Given the description of an element on the screen output the (x, y) to click on. 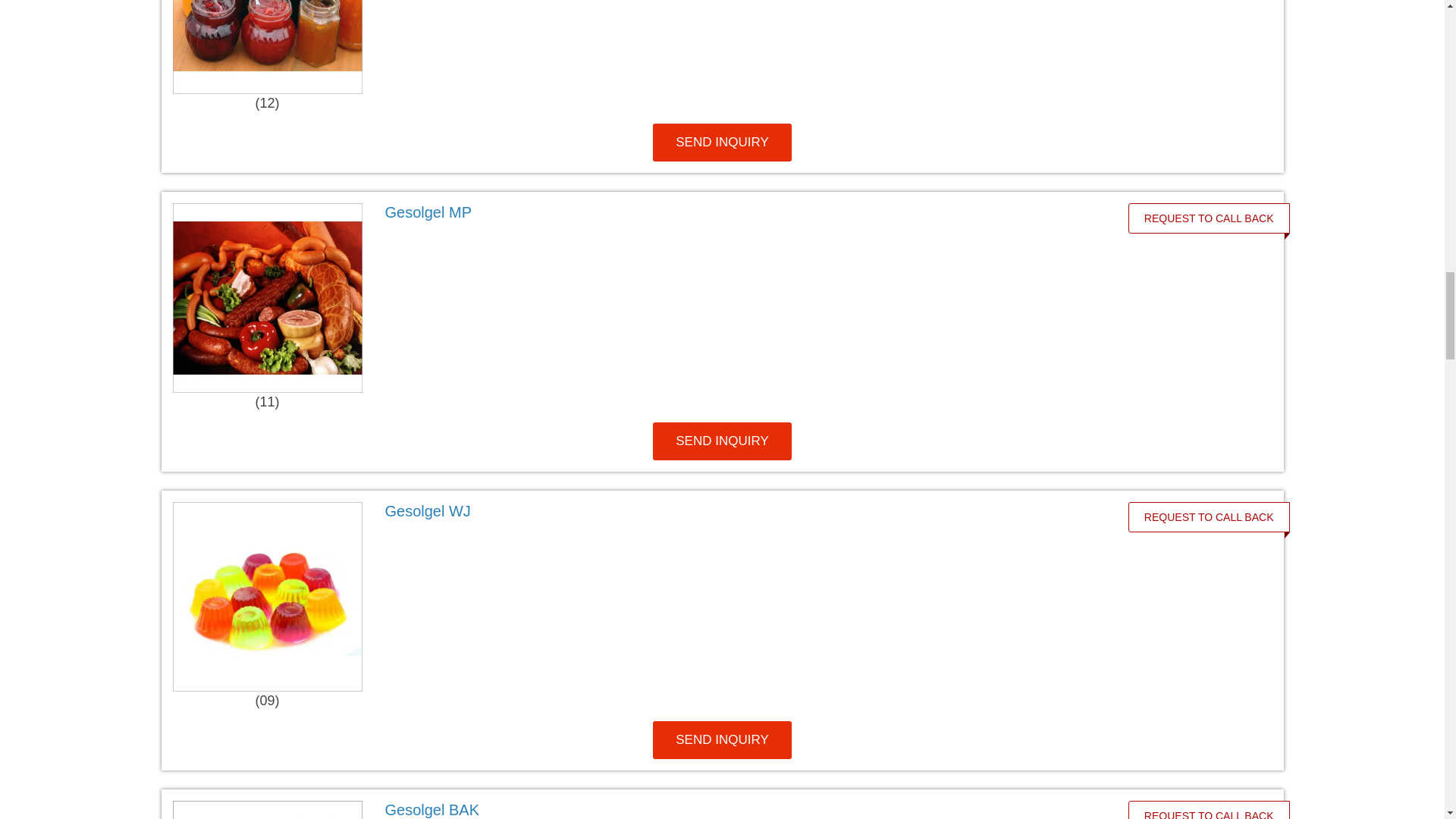
Gesolgel BAK (739, 809)
Gesolgel WJ (739, 511)
Gesolgel MP (739, 212)
